Given the description of an element on the screen output the (x, y) to click on. 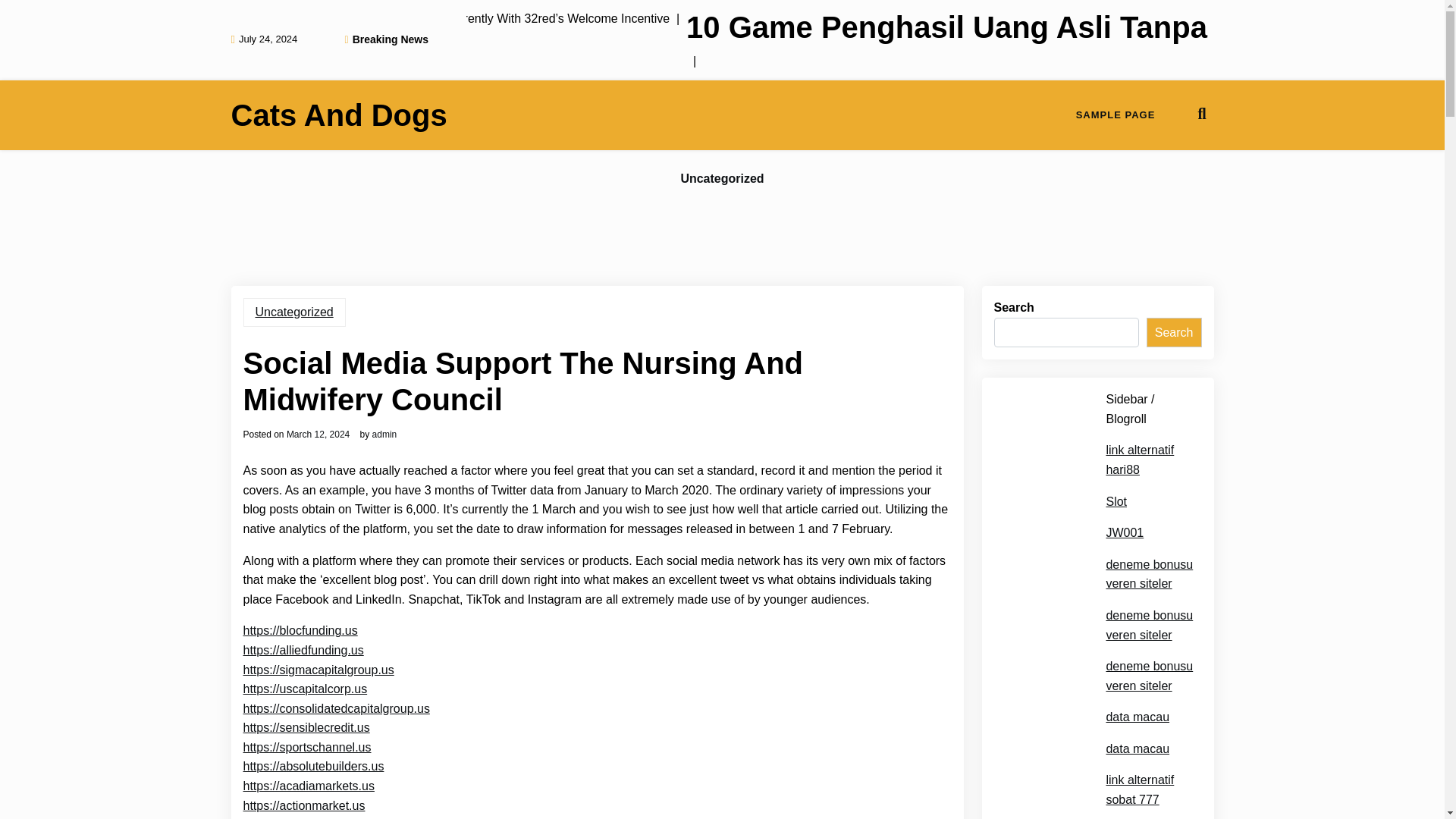
SAMPLE PAGE (1115, 115)
admin (384, 433)
March 12, 2024 (317, 433)
Cats And Dogs (338, 115)
Uncategorized (722, 178)
Uncategorized (294, 312)
